Given the description of an element on the screen output the (x, y) to click on. 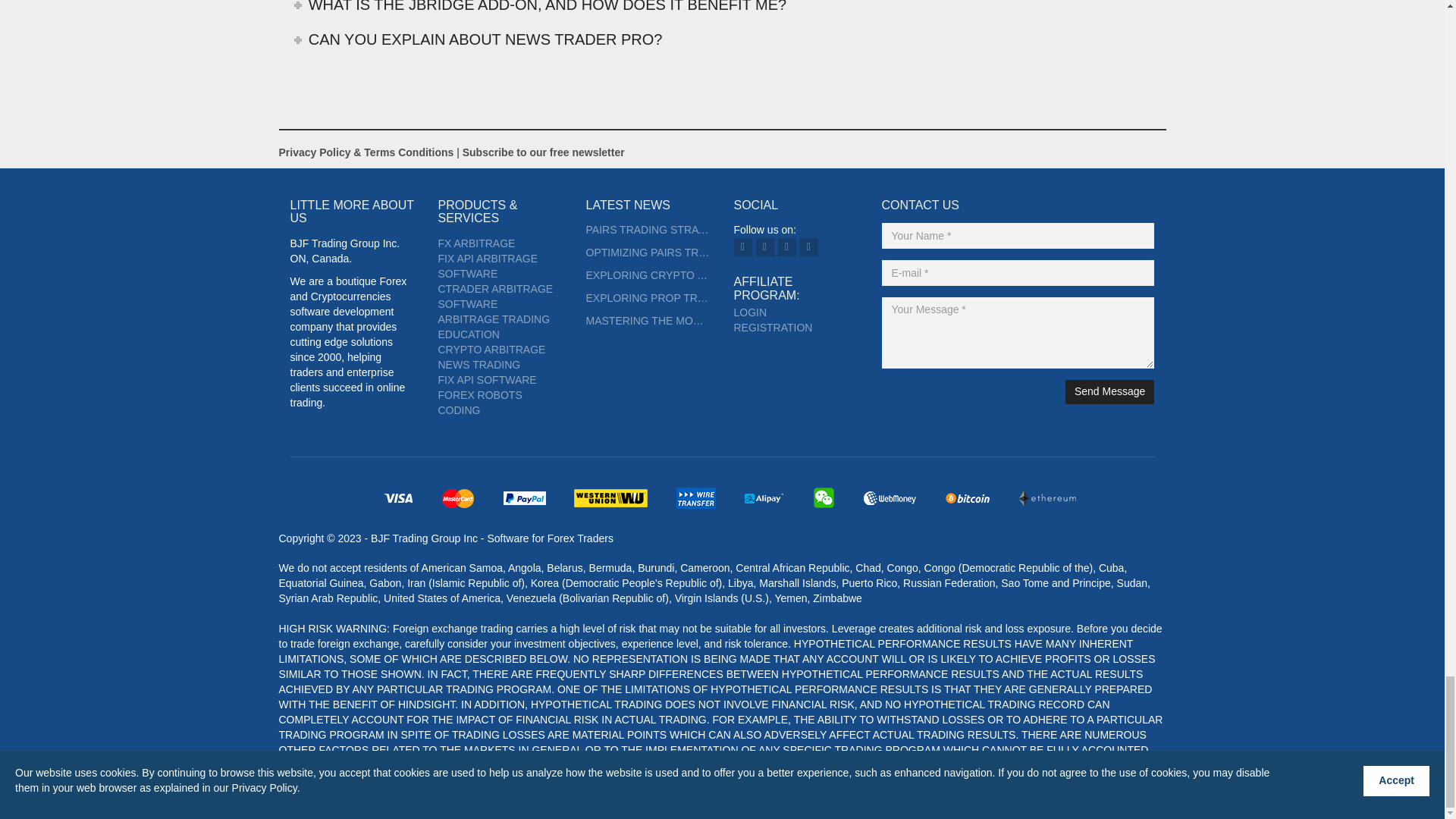
Send Message (1109, 392)
